Given the description of an element on the screen output the (x, y) to click on. 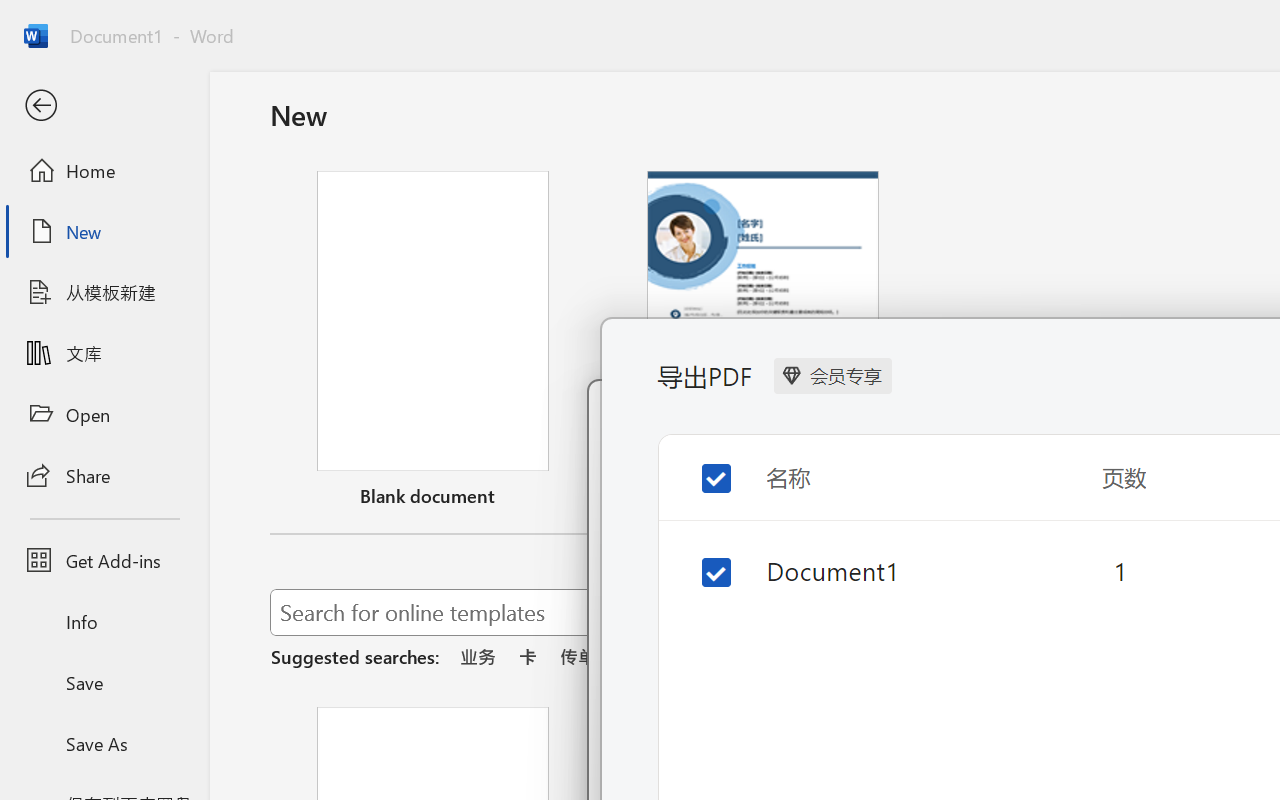
Back (104, 106)
select row (699, 568)
Save As (104, 743)
Toggle selection for all items (699, 462)
1 (1118, 569)
Info (104, 621)
Toggle selection for all items (699, 471)
select row (699, 557)
